Given the description of an element on the screen output the (x, y) to click on. 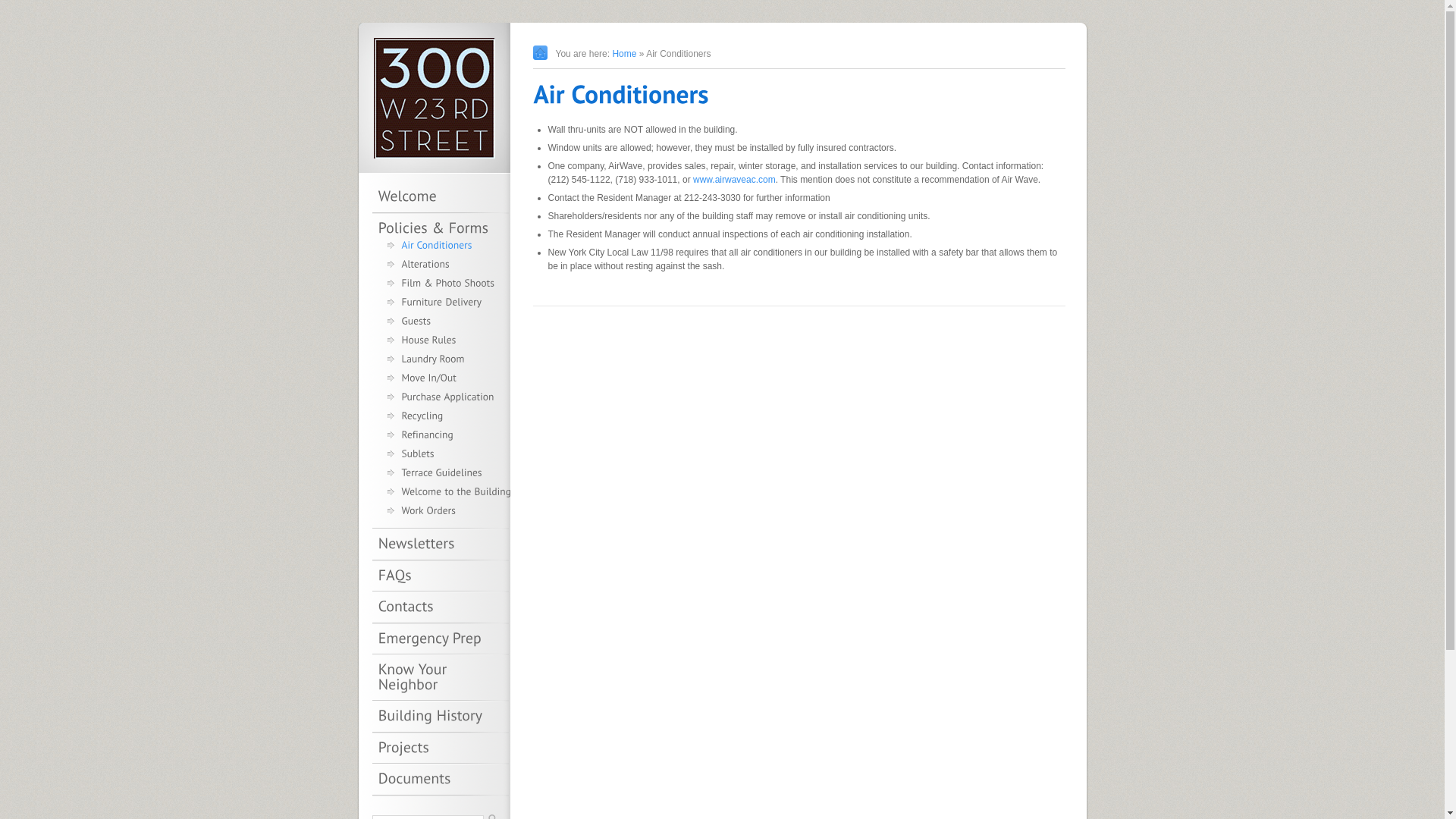
www.airwaveac.com Element type: text (734, 179)
Home Element type: text (623, 53)
